Given the description of an element on the screen output the (x, y) to click on. 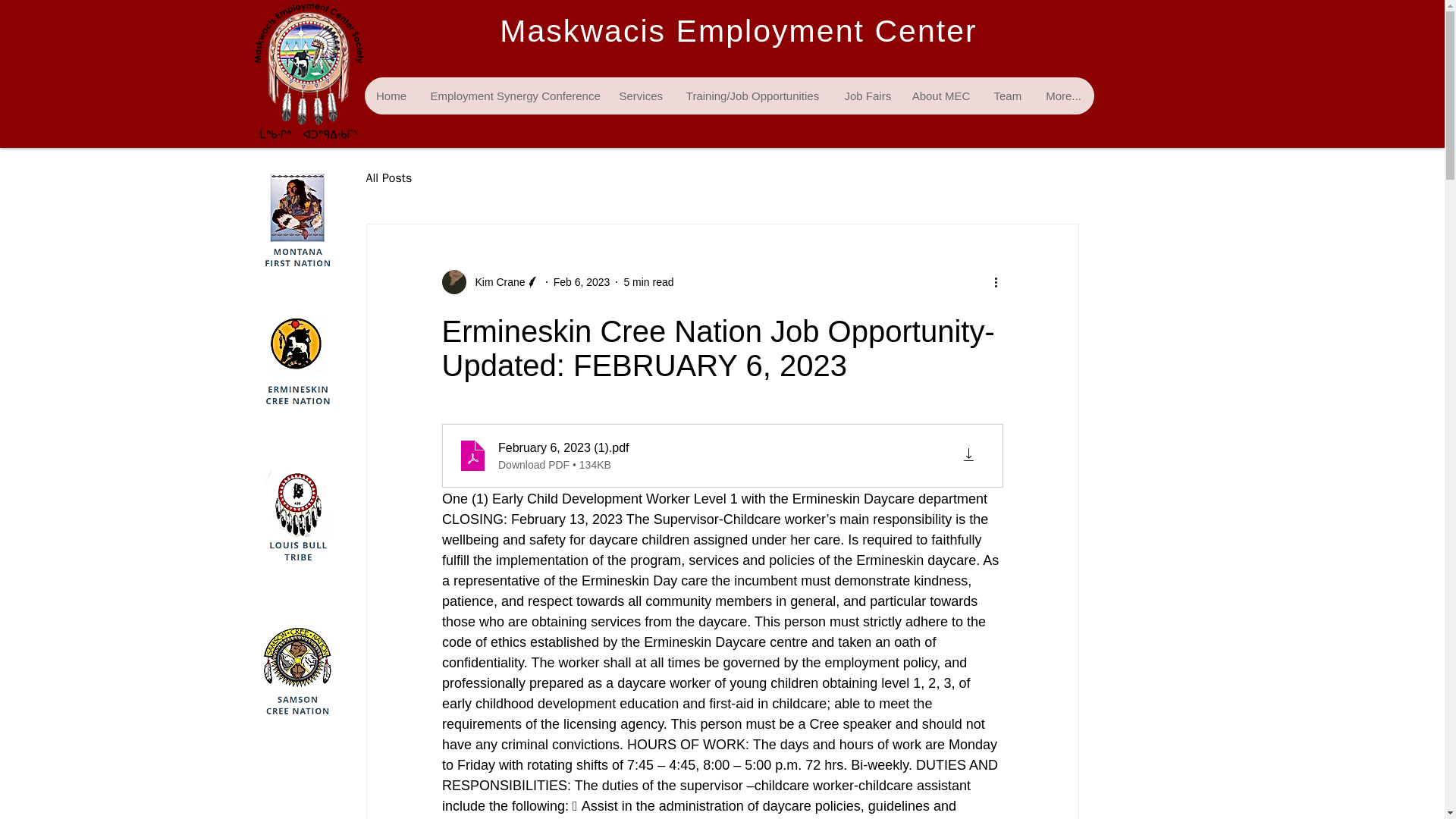
Job Fairs (865, 95)
Employment Synergy Conference (513, 95)
Home (390, 95)
Feb 6, 2023 (581, 282)
Kim Crane (489, 282)
Services (639, 95)
Kim Crane (494, 282)
5 min read (647, 282)
Team (1006, 95)
About MEC (940, 95)
All Posts (388, 178)
